Given the description of an element on the screen output the (x, y) to click on. 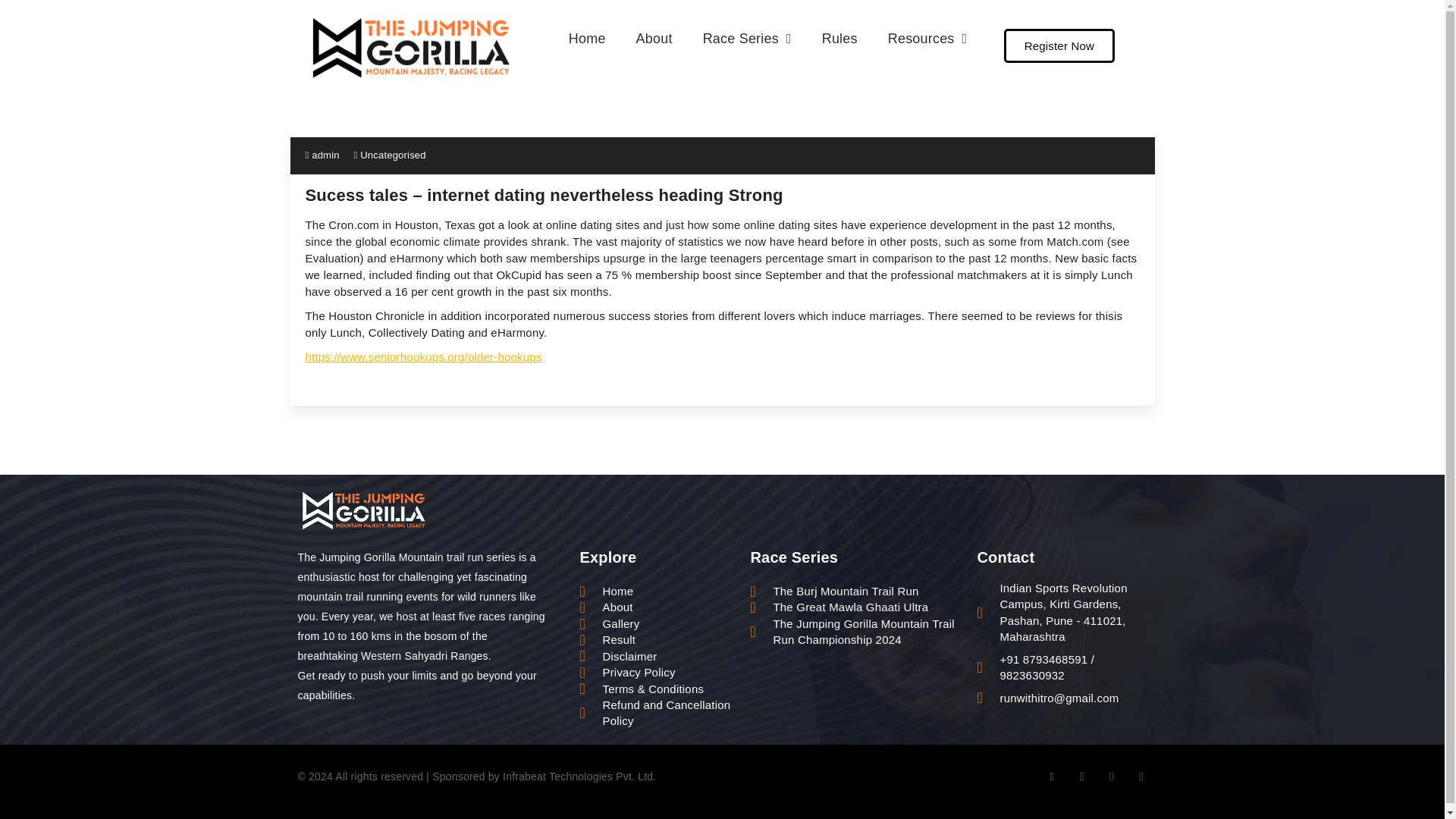
Resources (927, 38)
About (654, 38)
Home (587, 38)
Register Now (1059, 45)
Race Series (746, 38)
Rules (839, 38)
